Given the description of an element on the screen output the (x, y) to click on. 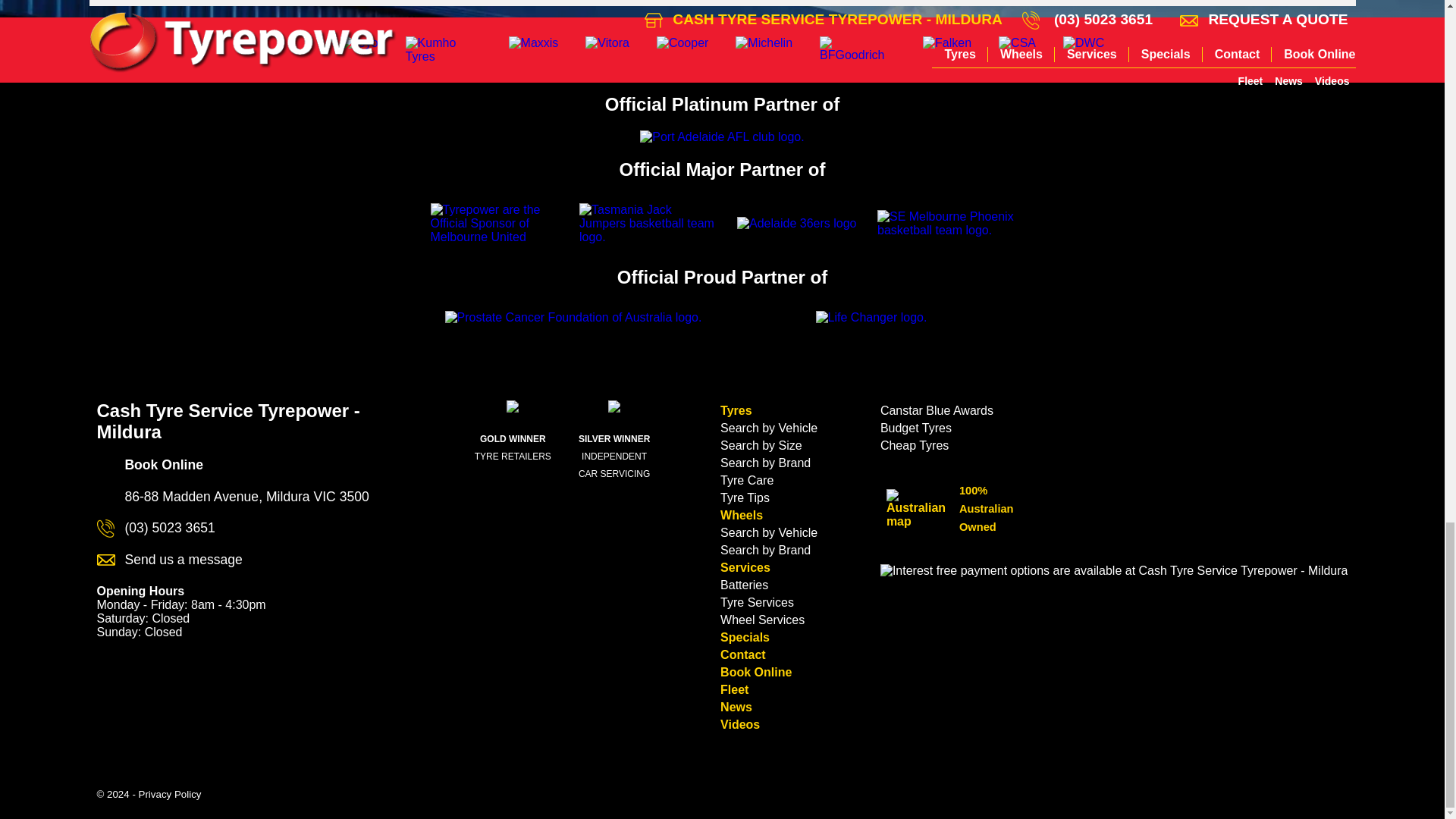
Tasmania Jack Jumpers (647, 223)
Melbourne United (498, 223)
Adelaide 36ers (796, 223)
S.E. Melbourne Phoenix (945, 223)
